Given the description of an element on the screen output the (x, y) to click on. 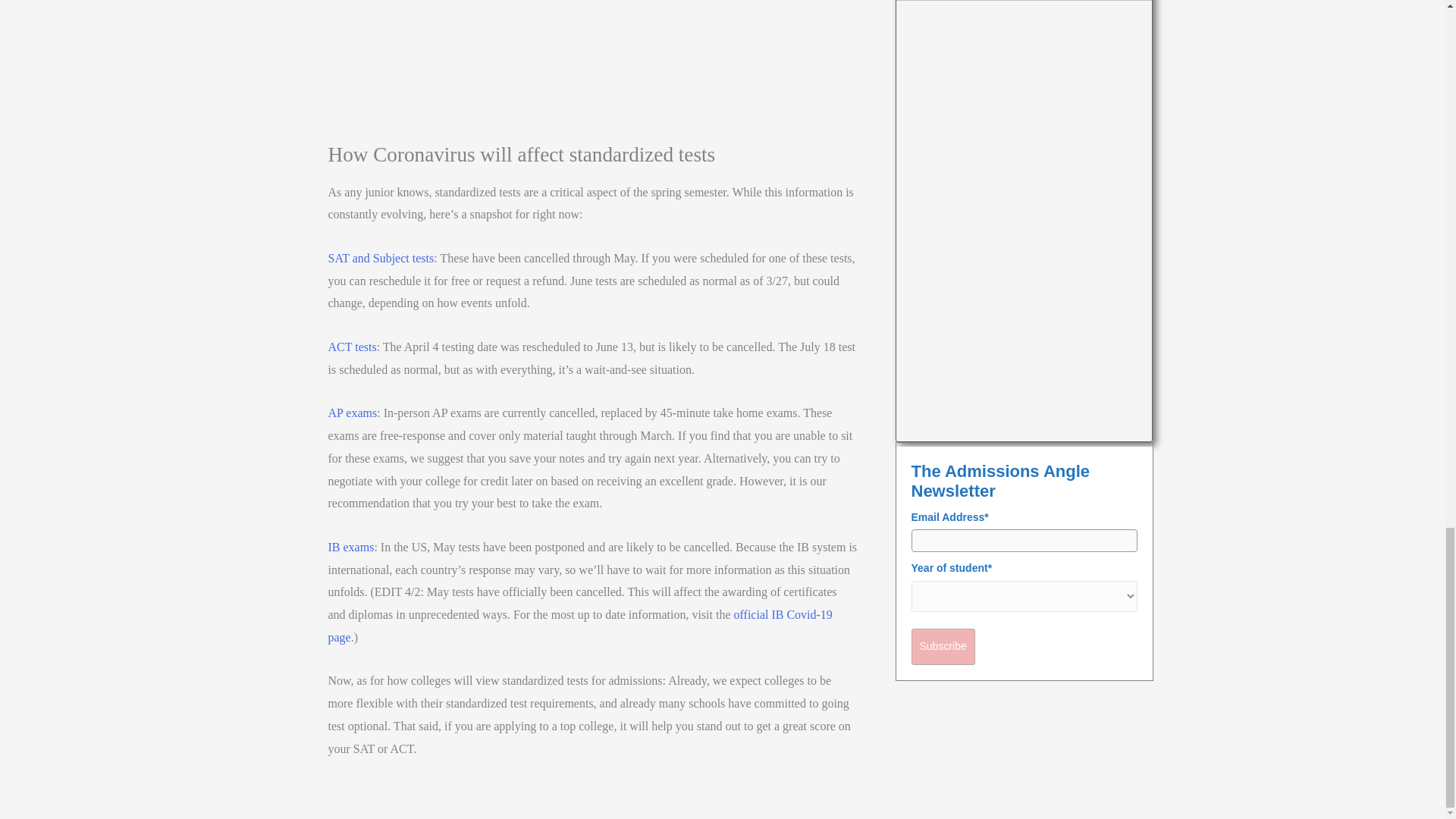
official IB Covid-19 page (579, 625)
ACT tests (351, 346)
AP exams (352, 412)
IB exams (350, 546)
SAT and Subject tests (380, 257)
